Given the description of an element on the screen output the (x, y) to click on. 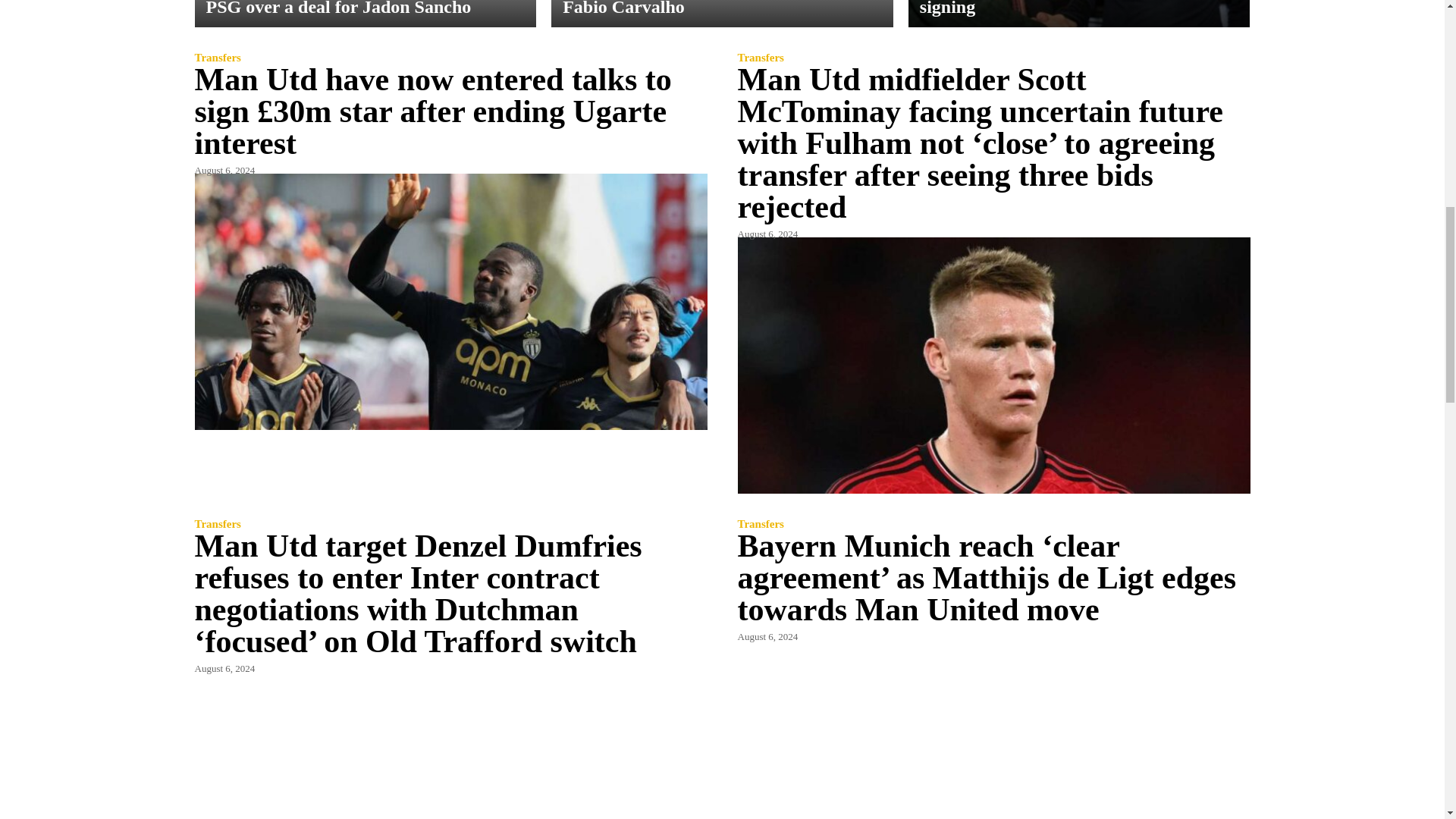
Leicester are rivalling Southampton for Fabio Carvalho (722, 13)
Leicester are rivalling Southampton for Fabio Carvalho (716, 8)
